Given the description of an element on the screen output the (x, y) to click on. 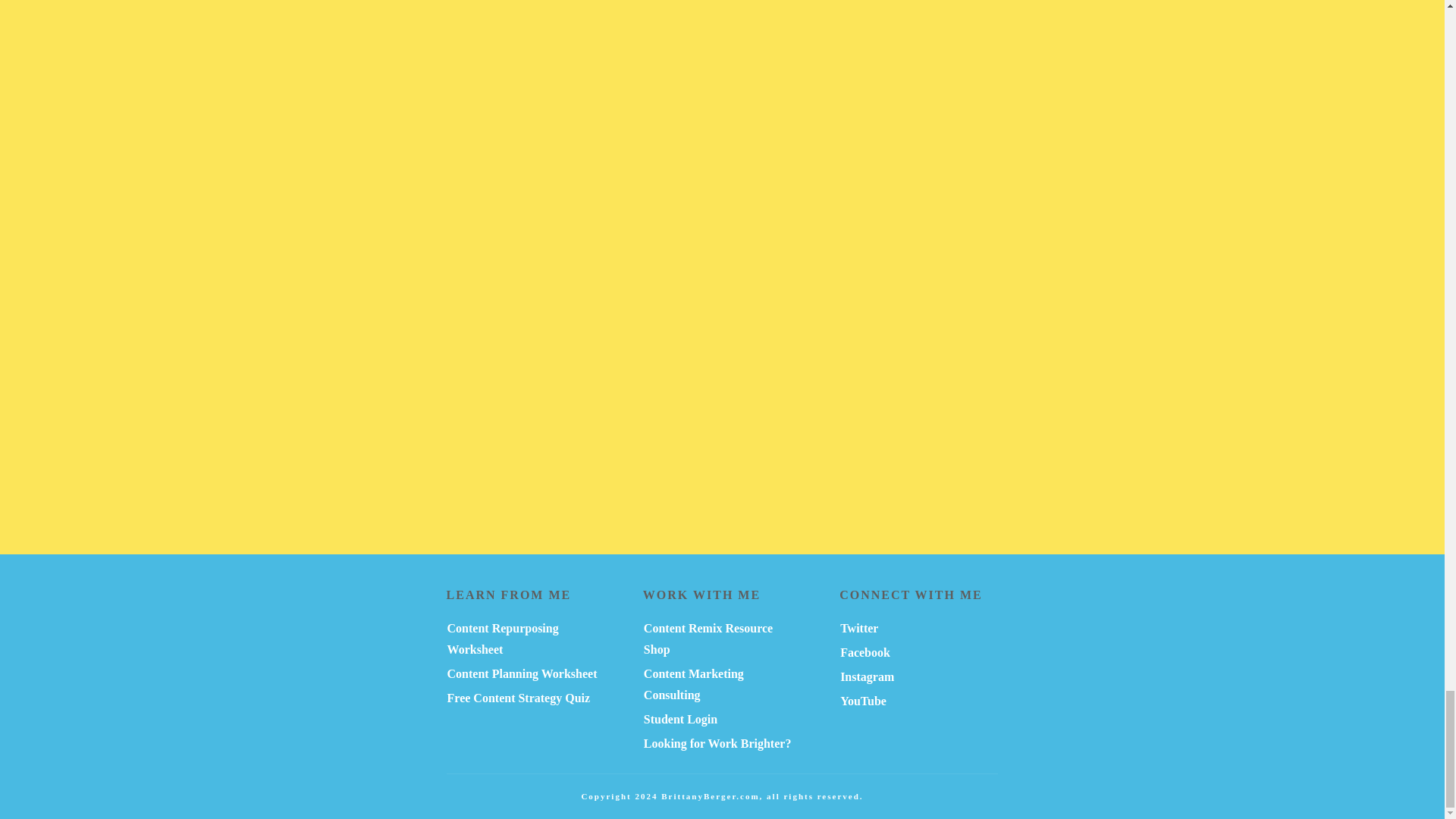
Content Planning Worksheet (521, 673)
Content Repurposing Worksheet (502, 638)
Free Content Strategy Quiz (518, 697)
